Given the description of an element on the screen output the (x, y) to click on. 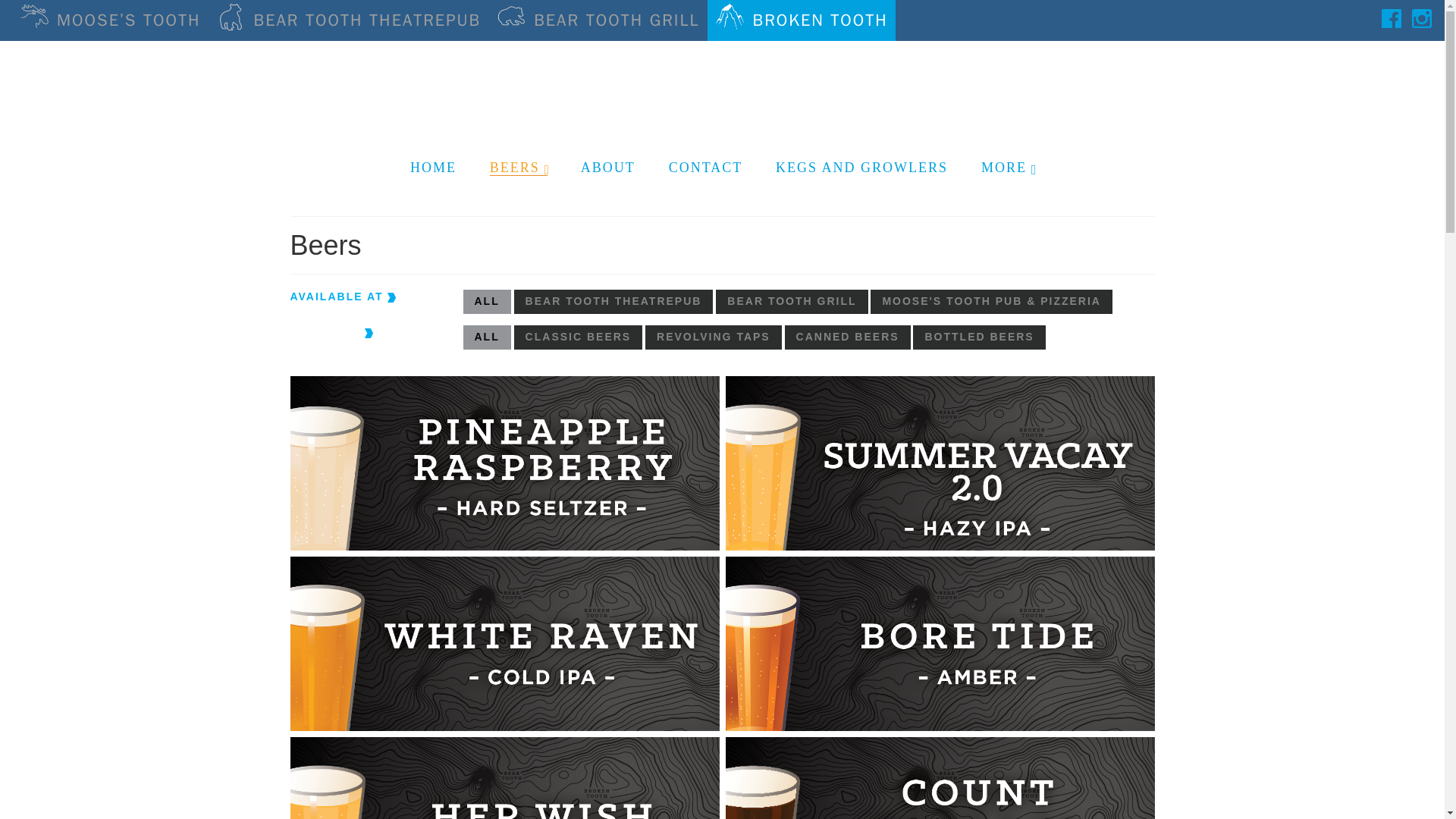
KEGS AND GROWLERS (861, 167)
ABOUT (608, 167)
HOME (432, 167)
MORE (1007, 167)
BEAR TOOTH THEATREPUB (613, 301)
Broken Tooth Brewing (724, 85)
CLASSIC BEERS (578, 337)
BEAR TOOTH GRILL (791, 301)
BROKEN TOOTH (801, 20)
ALL (487, 301)
BEAR TOOTH GRILL (596, 20)
ALL (487, 337)
BEAR TOOTH THEATREPUB (348, 20)
BEERS (518, 167)
CONTACT (705, 167)
